Given the description of an element on the screen output the (x, y) to click on. 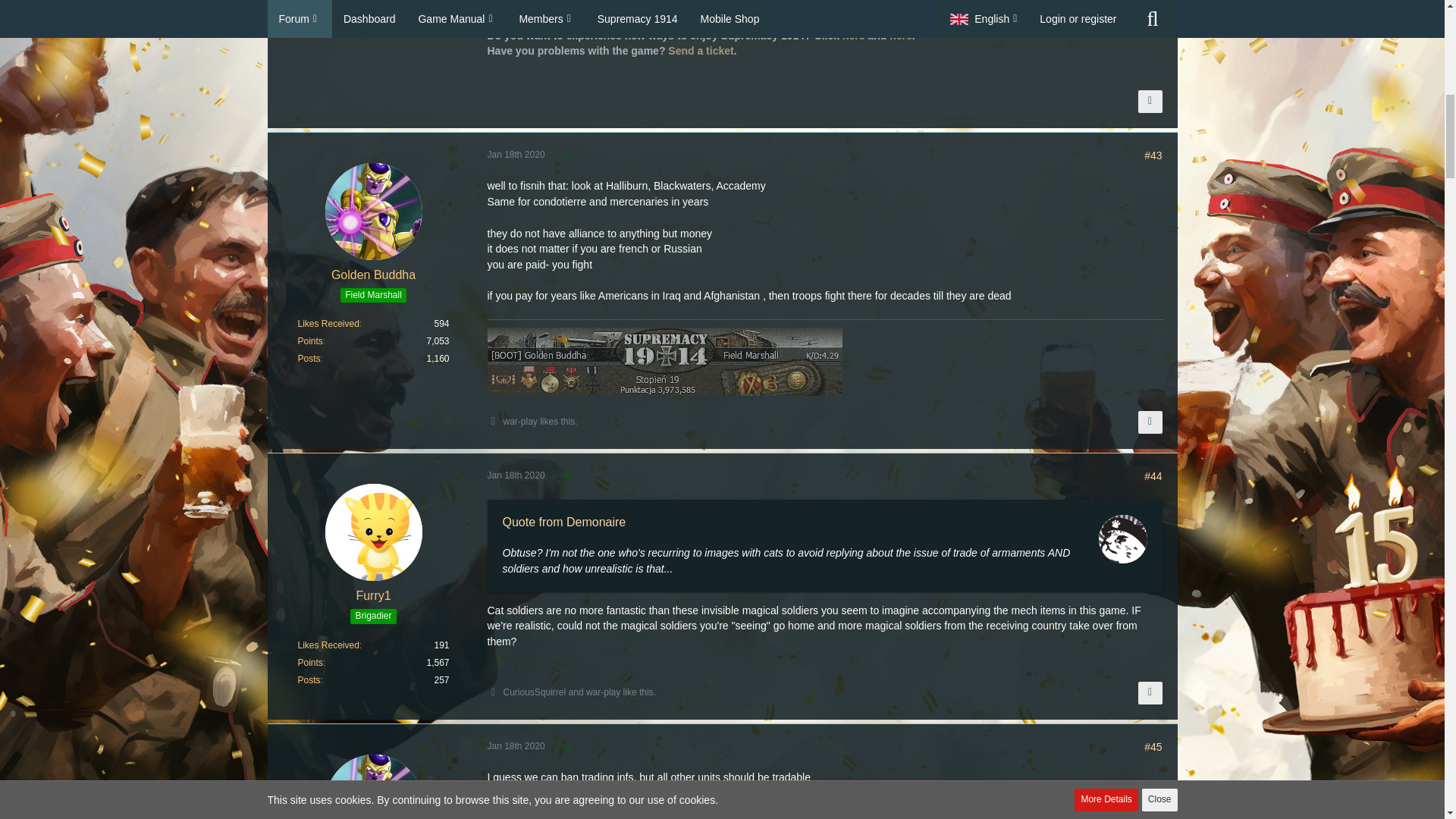
smile (662, 794)
great s1914 (560, 6)
